Given the description of an element on the screen output the (x, y) to click on. 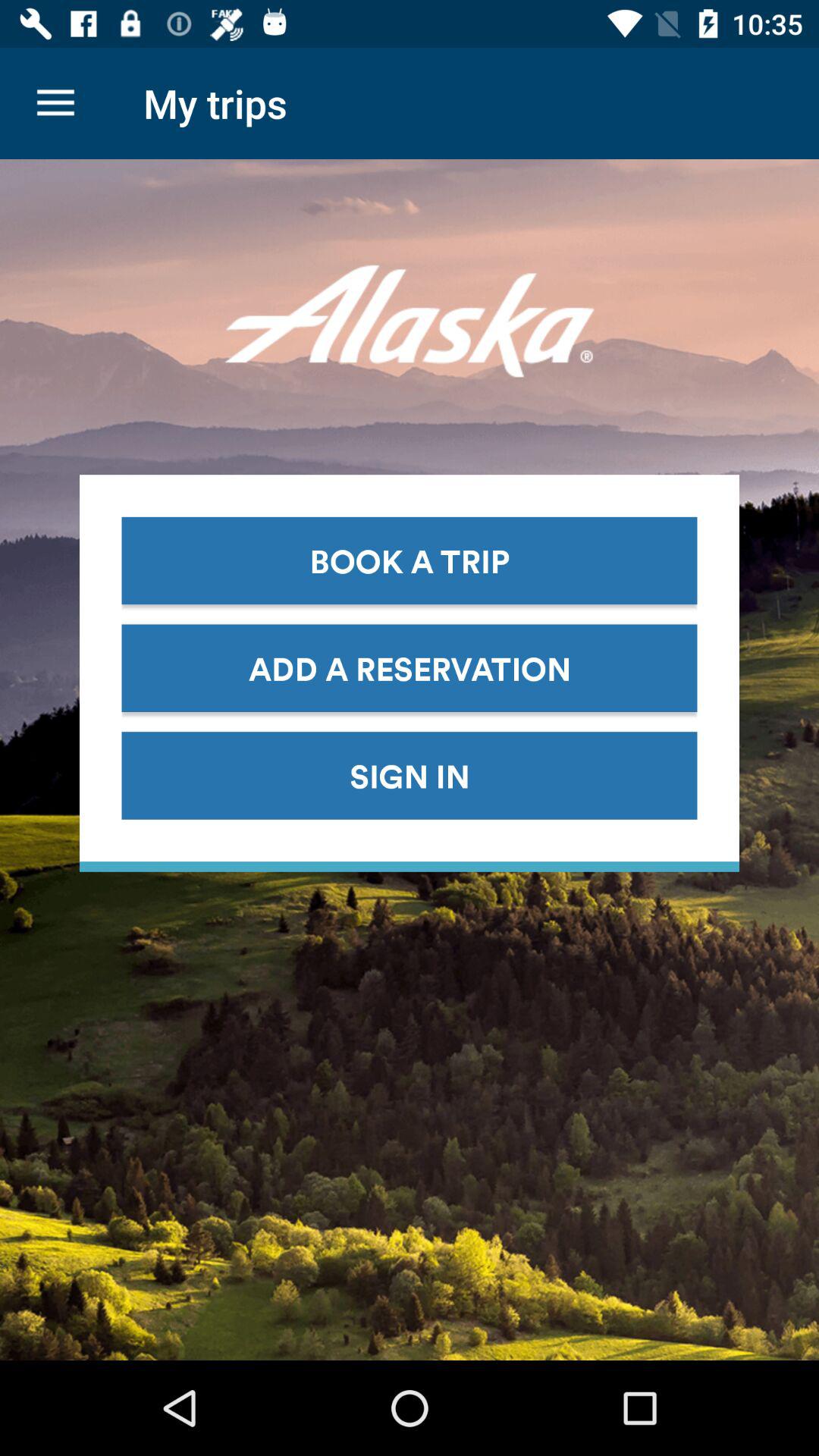
scroll until the sign in icon (409, 775)
